Given the description of an element on the screen output the (x, y) to click on. 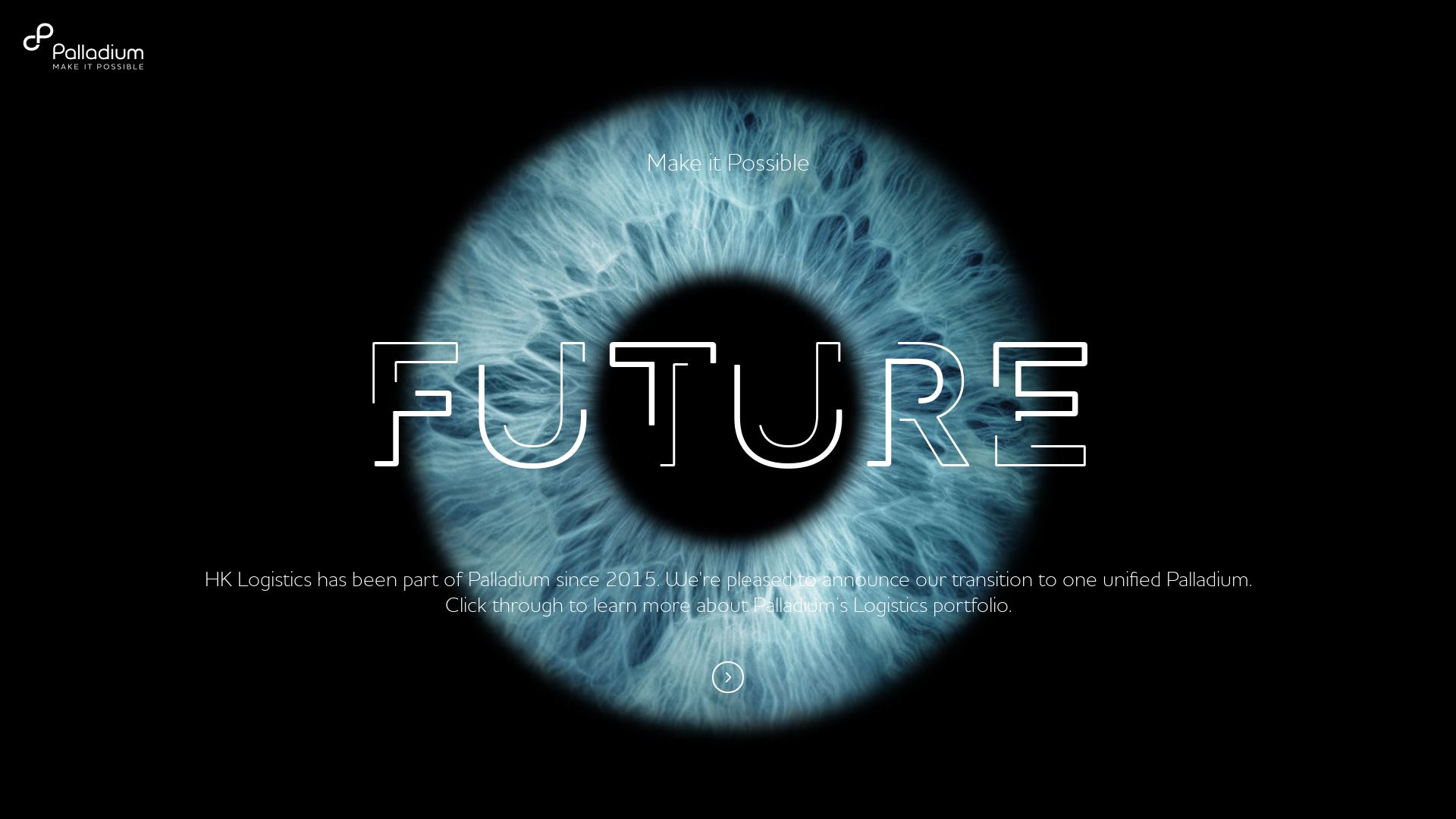
Palladium - Make it possible Element type: text (102, 47)
